Given the description of an element on the screen output the (x, y) to click on. 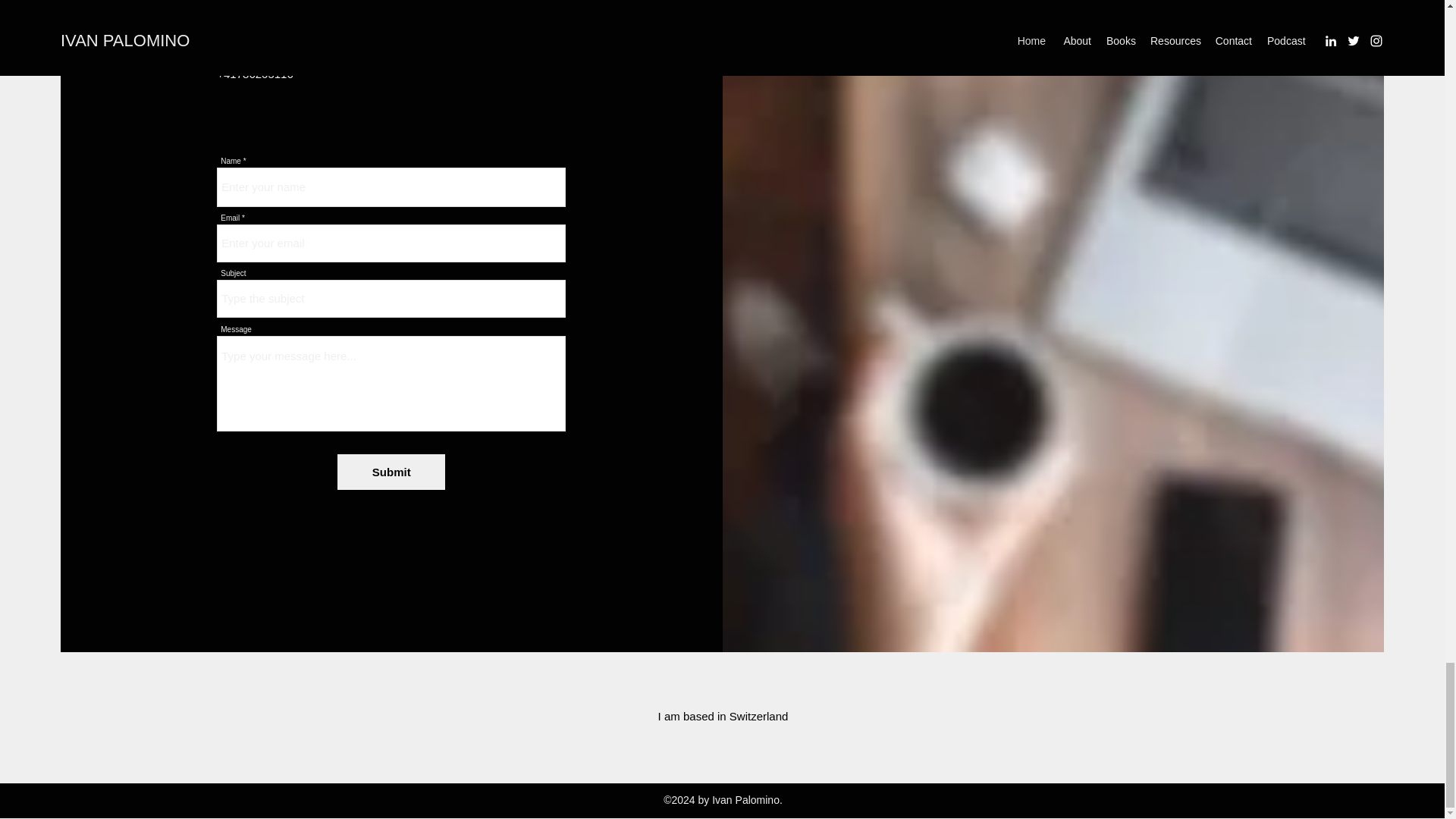
Submit (391, 471)
 book me for a short zoom call here (390, 5)
